Given the description of an element on the screen output the (x, y) to click on. 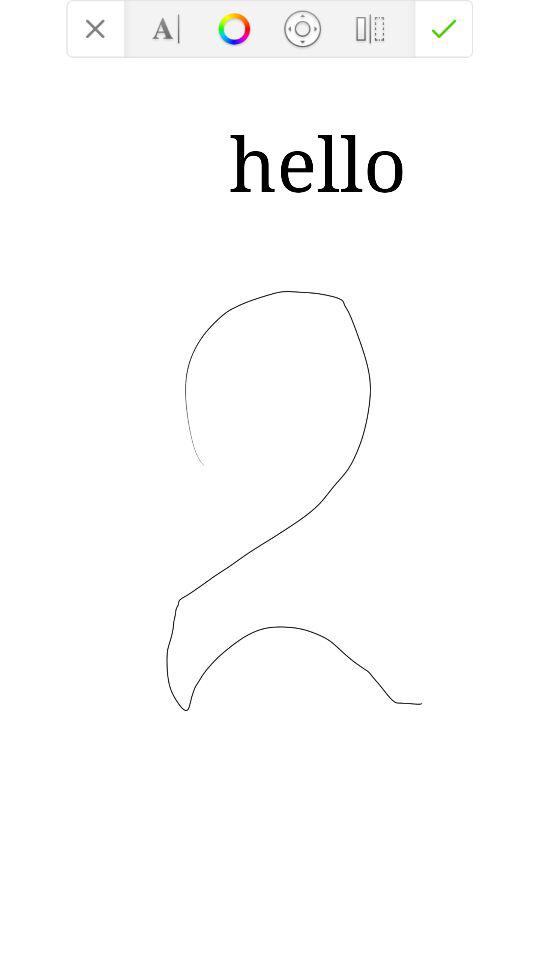
color select (234, 28)
